Given the description of an element on the screen output the (x, y) to click on. 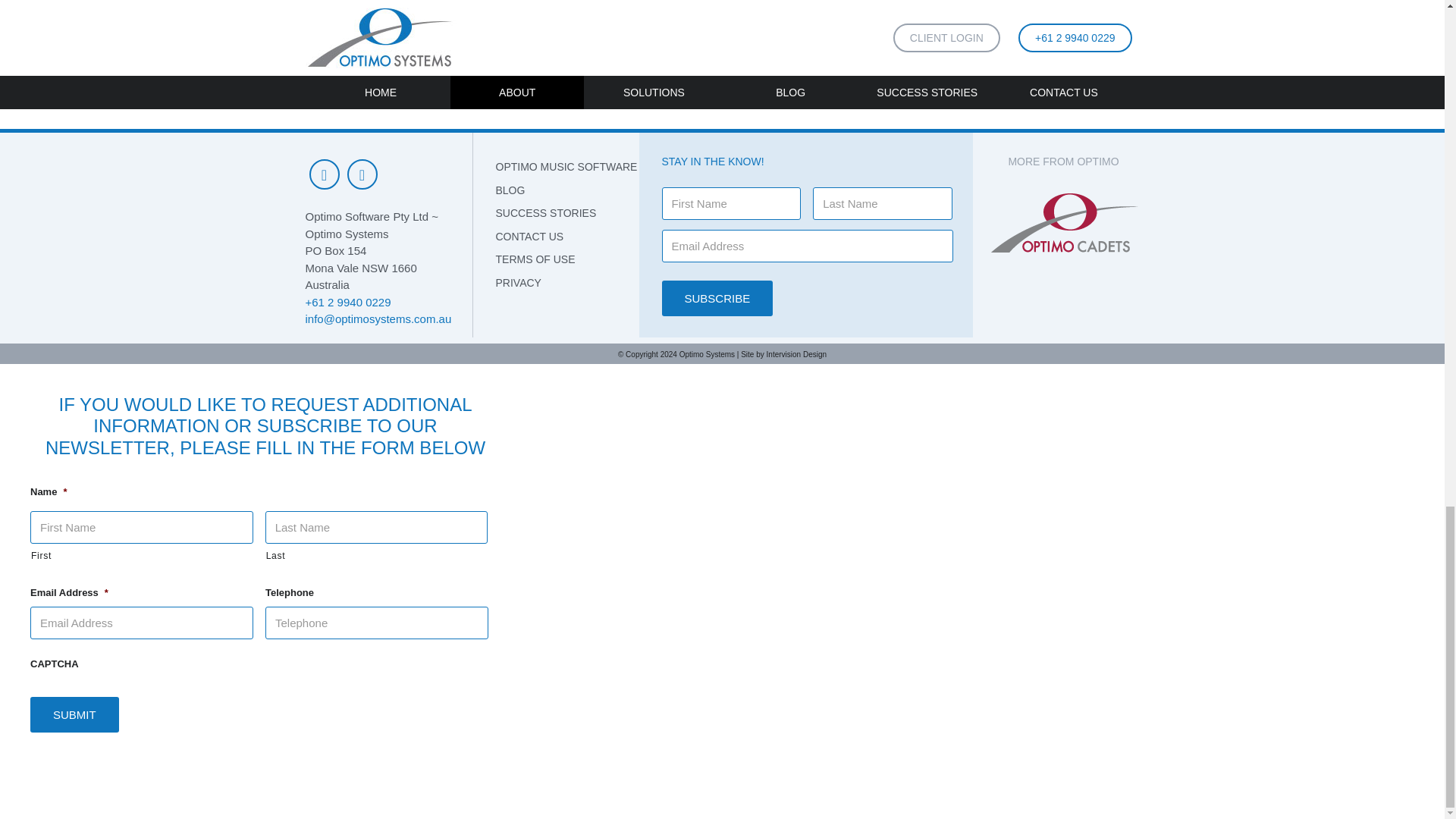
BLOG (567, 190)
CONTACT US (567, 236)
Subscribe (717, 298)
Intervision Design (797, 354)
SUCCESS STORIES (567, 213)
Submit (74, 714)
TERMS OF USE (567, 259)
OPTIMO MUSIC SOFTWARE (567, 167)
